Given the description of an element on the screen output the (x, y) to click on. 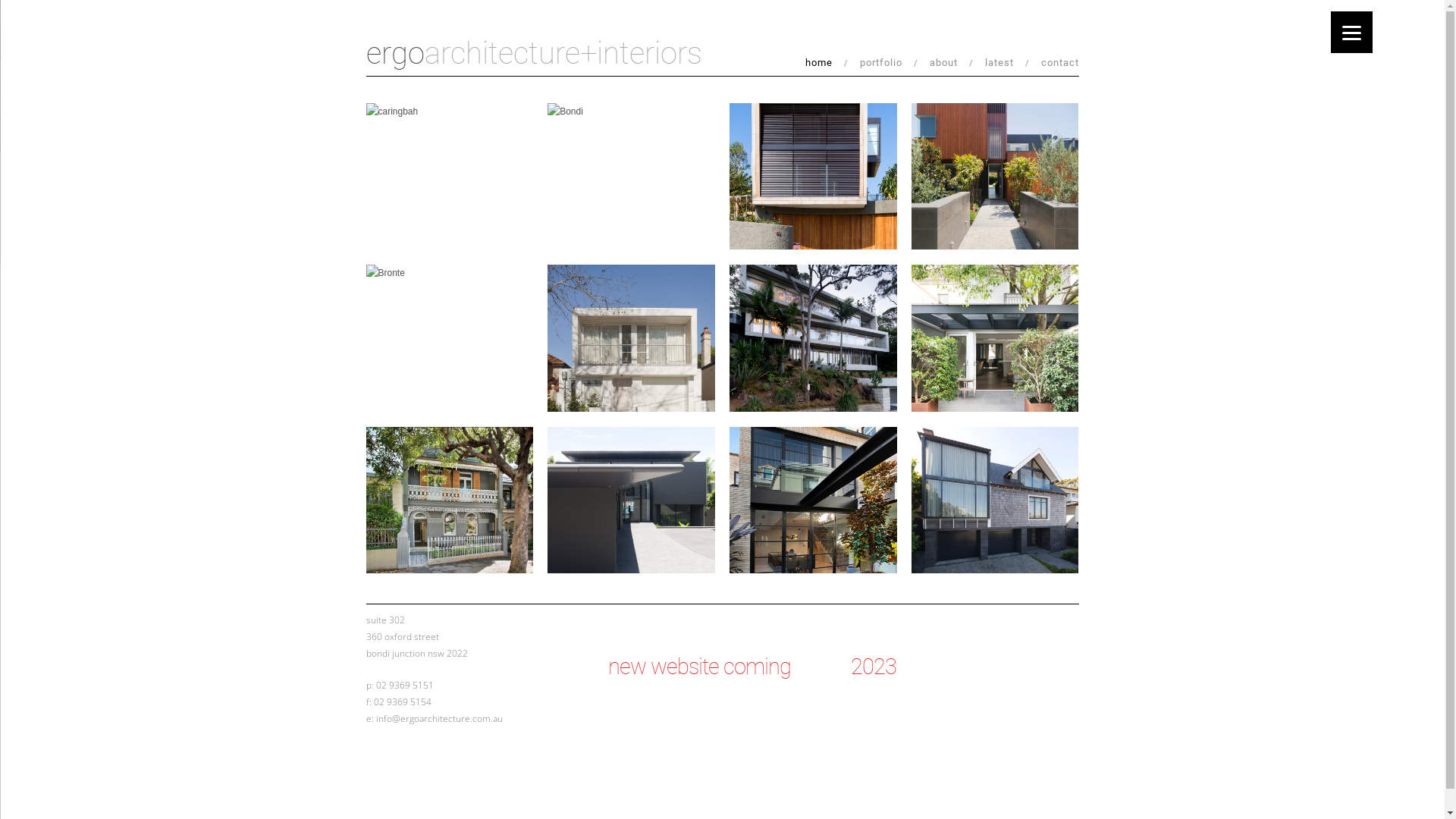
Potts Point Element type: hover (813, 499)
cronulla Element type: hover (631, 499)
latest Element type: text (1006, 63)
Mosman Element type: hover (813, 337)
cronulla Element type: hover (995, 176)
Double Bay Element type: hover (631, 337)
portfolio Element type: text (888, 63)
about Element type: text (951, 63)
Bondi Element type: hover (631, 111)
ergo Element type: text (394, 53)
Warriewood Element type: hover (813, 176)
Woollahra Element type: hover (995, 337)
Double Bay Element type: hover (449, 499)
contact Element type: text (1059, 63)
Bronte Element type: hover (449, 272)
home Element type: text (826, 63)
Mosman Element type: hover (995, 499)
caringbah Element type: hover (449, 111)
